Given the description of an element on the screen output the (x, y) to click on. 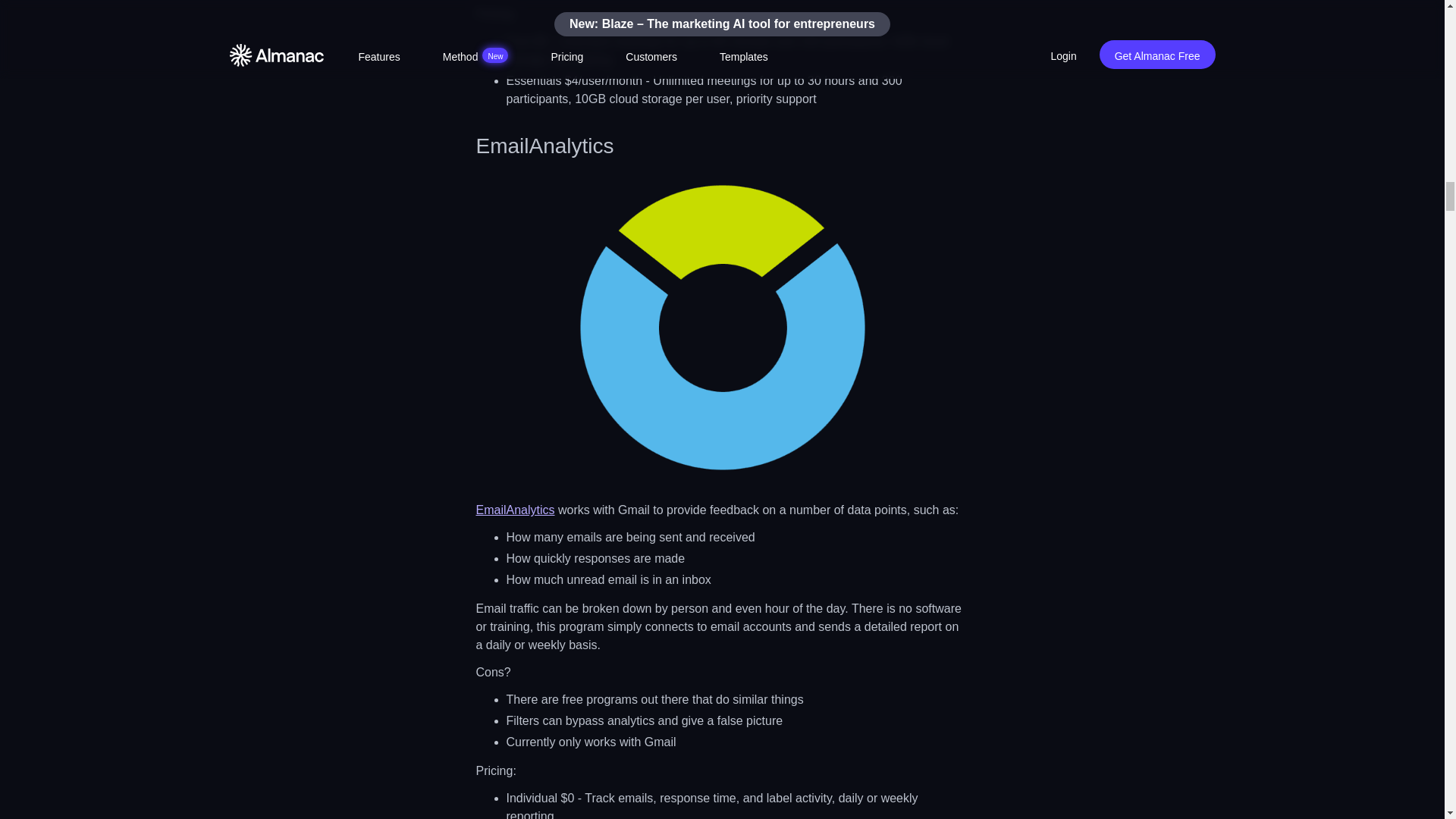
EmailAnalytics (515, 509)
